Given the description of an element on the screen output the (x, y) to click on. 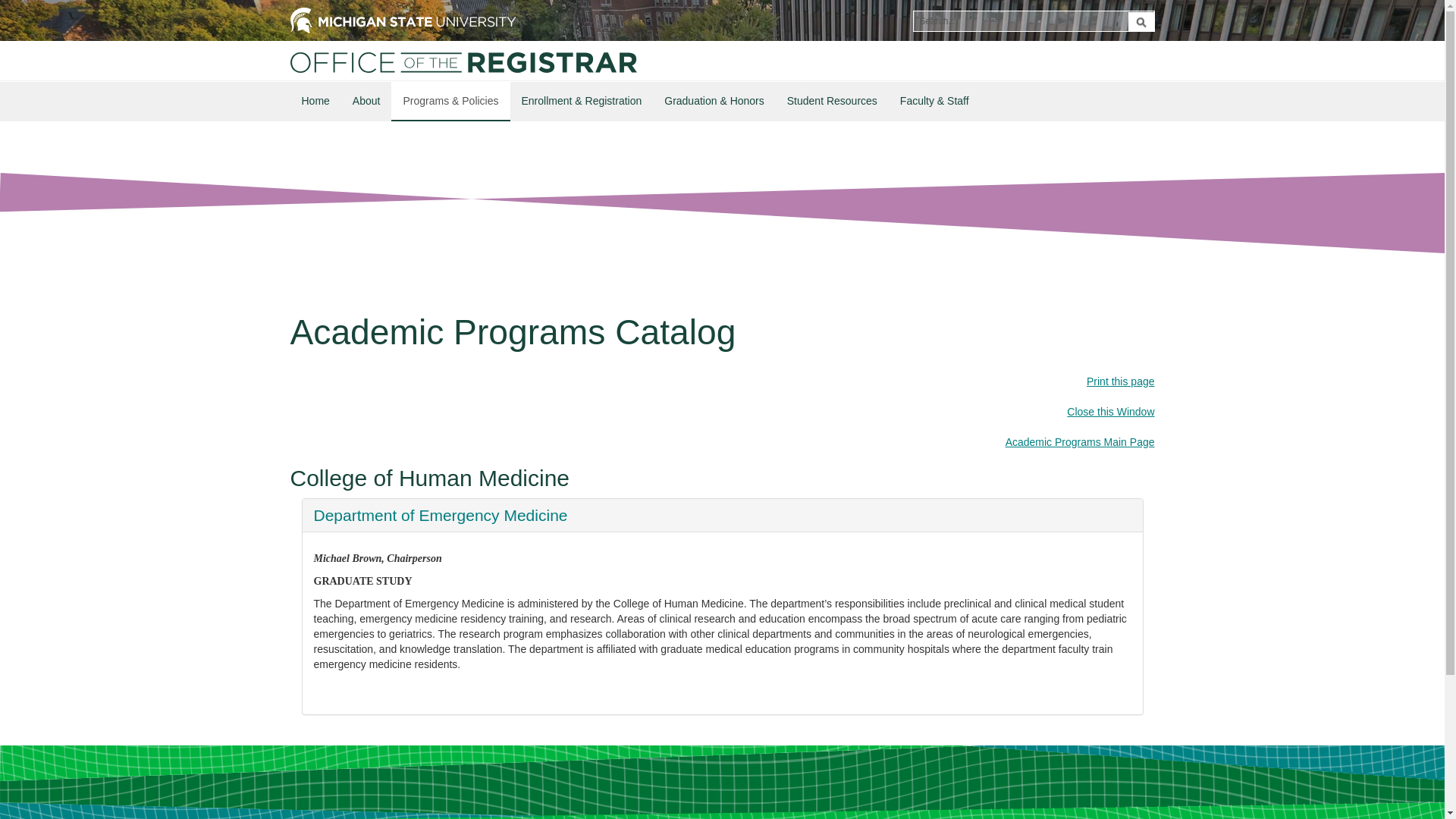
search button (1141, 21)
Home (314, 100)
About (365, 100)
